Given the description of an element on the screen output the (x, y) to click on. 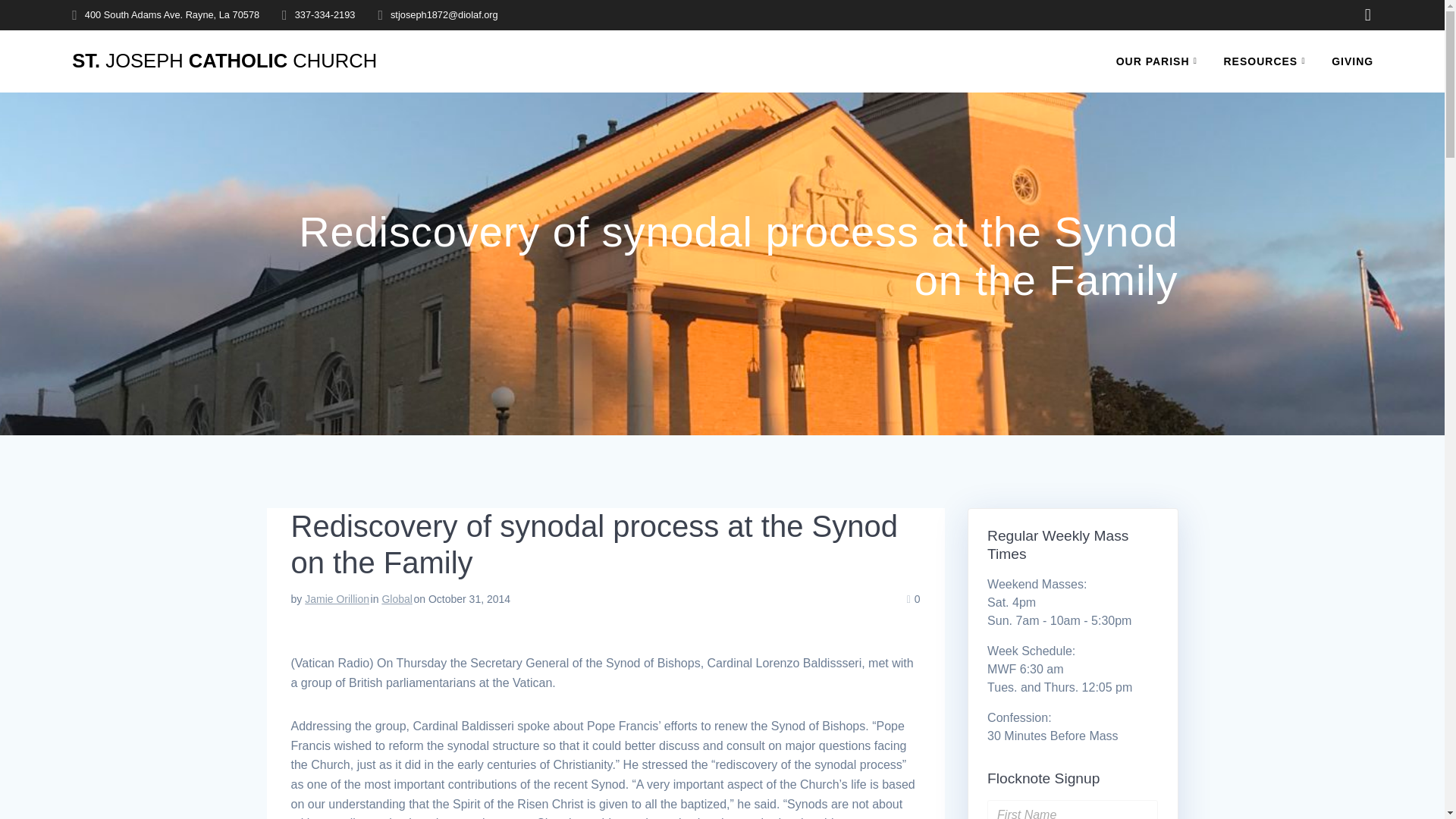
Global (396, 598)
RESOURCES (1267, 61)
GIVING (1352, 61)
Jamie Orillion (336, 598)
ST. JOSEPH CATHOLIC CHURCH (224, 61)
Posts by Jamie Orillion (336, 598)
OUR PARISH (1160, 61)
